Given the description of an element on the screen output the (x, y) to click on. 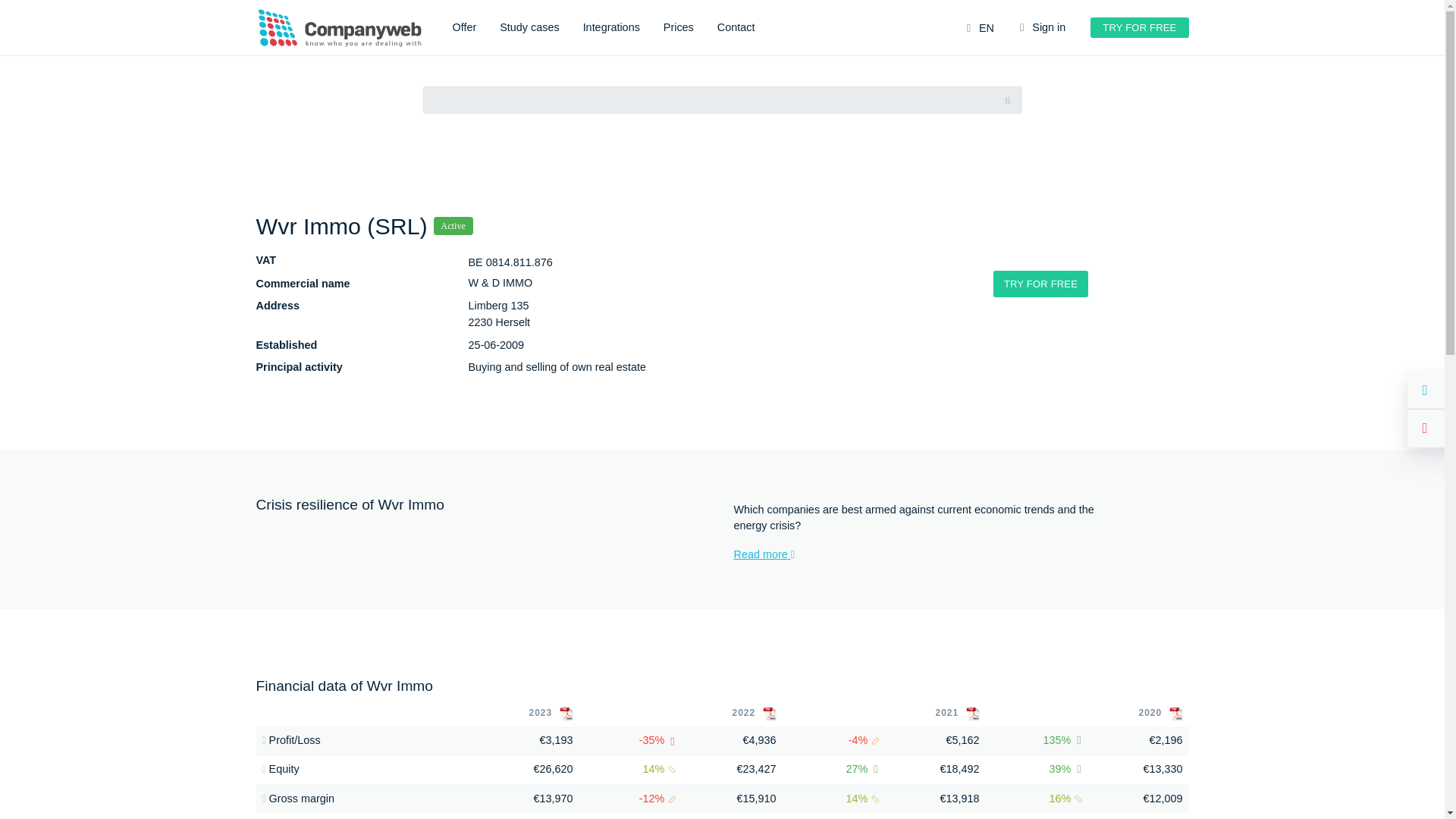
Integrations (611, 27)
Study cases (528, 27)
Prices (679, 27)
TRY FOR FREE (1139, 27)
TRY FOR FREE (1039, 284)
Read more (921, 555)
Contact (736, 27)
Sign in (1042, 27)
EN (980, 28)
Offer (463, 27)
